Given the description of an element on the screen output the (x, y) to click on. 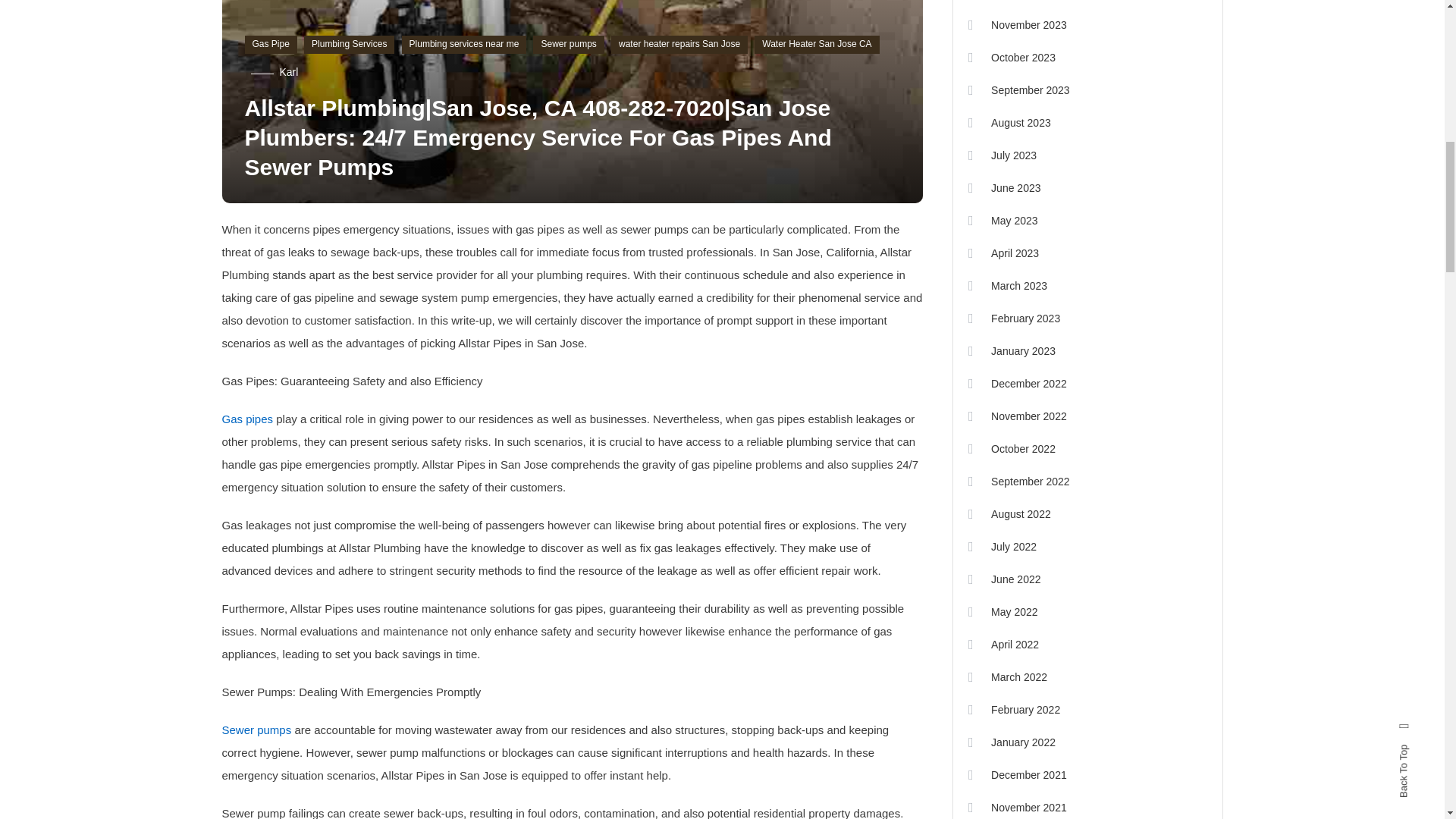
Plumbing Services (349, 45)
Water Heater San Jose CA (816, 45)
Plumbing services near me (464, 45)
Gas Pipe (270, 45)
Sewer pumps (568, 45)
water heater repairs San Jose (679, 45)
Karl (288, 71)
